Given the description of an element on the screen output the (x, y) to click on. 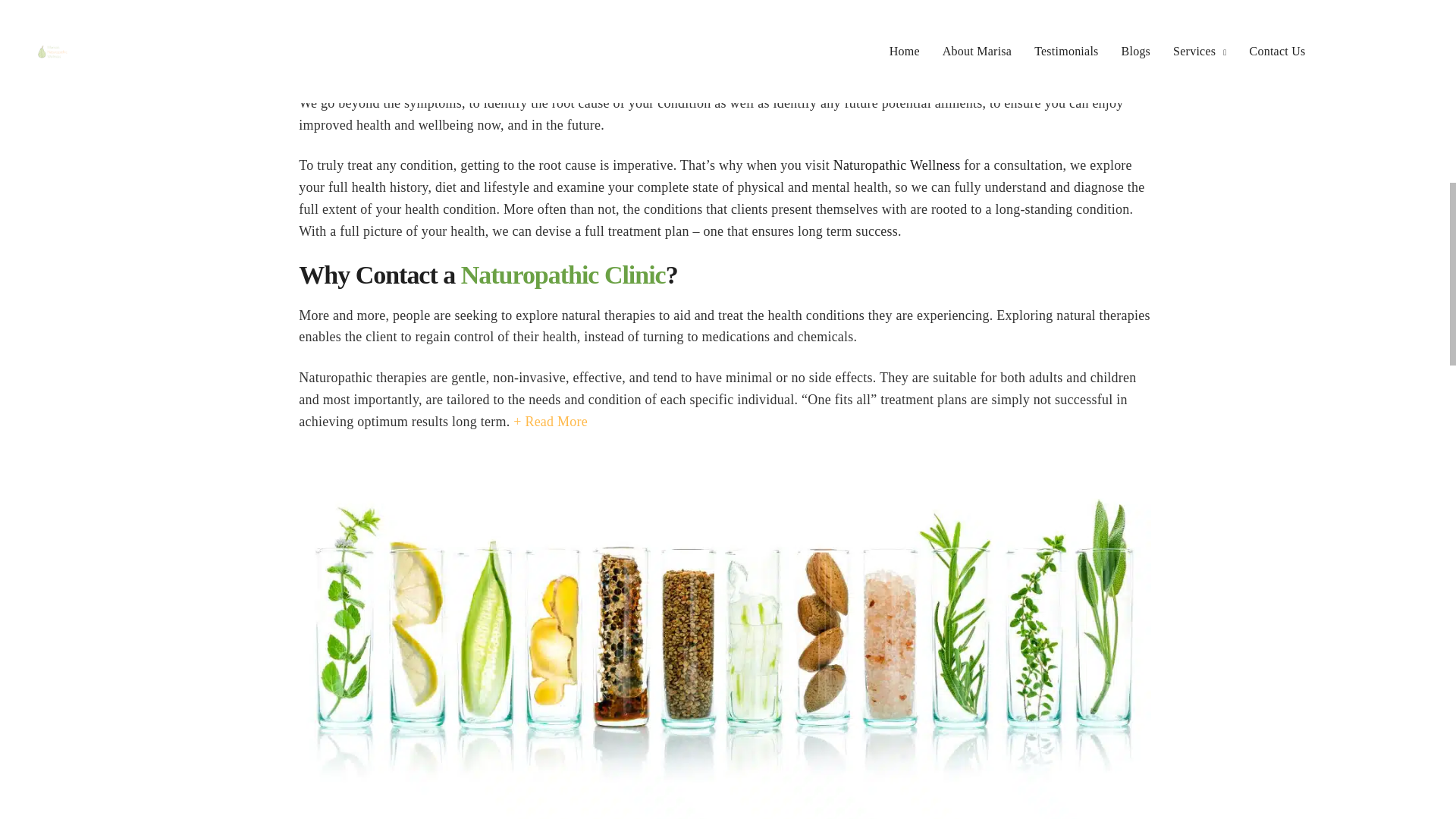
Naturopathic Wellness (896, 165)
